Given the description of an element on the screen output the (x, y) to click on. 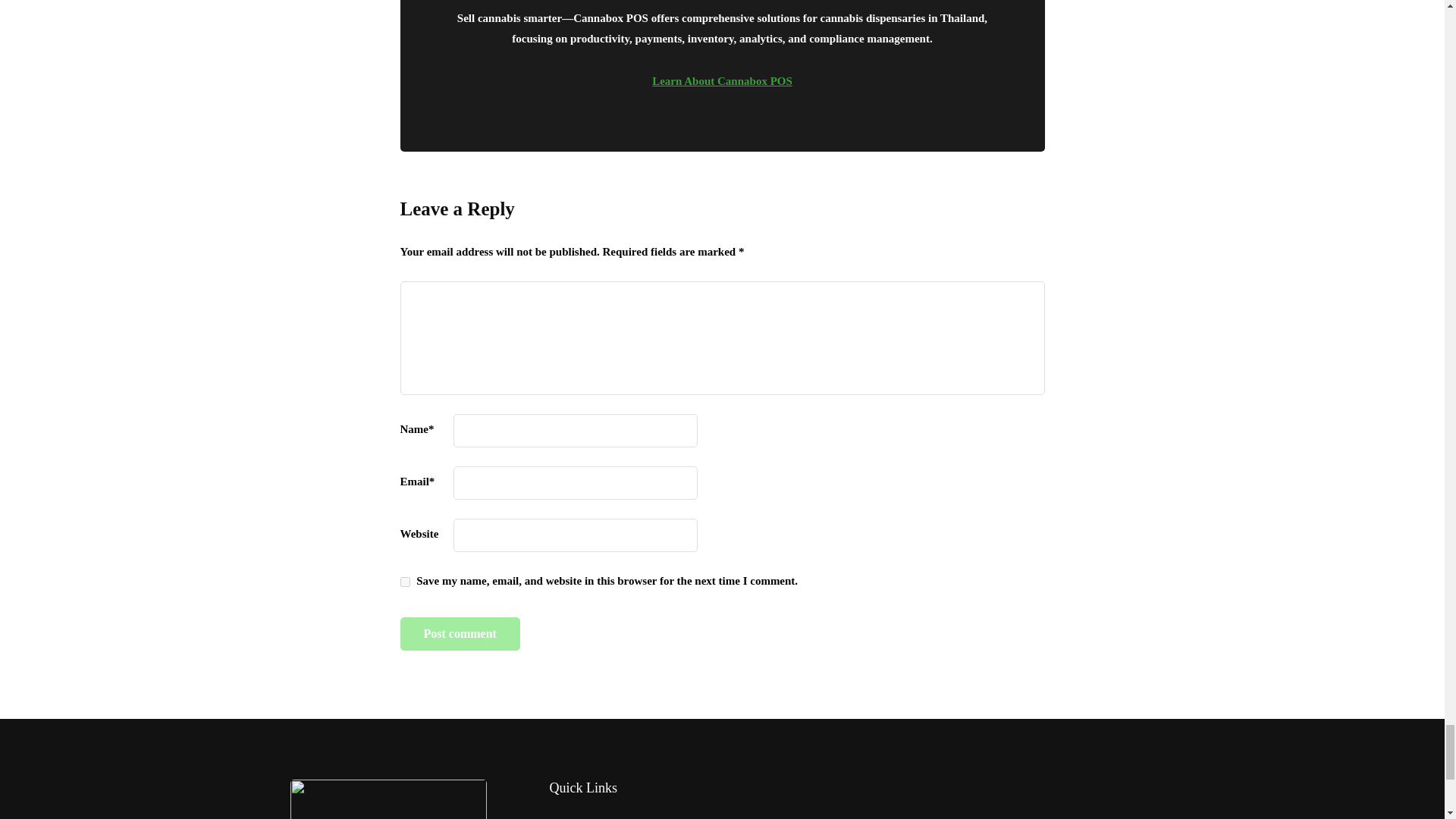
yes (405, 582)
Post comment (459, 633)
